Given the description of an element on the screen output the (x, y) to click on. 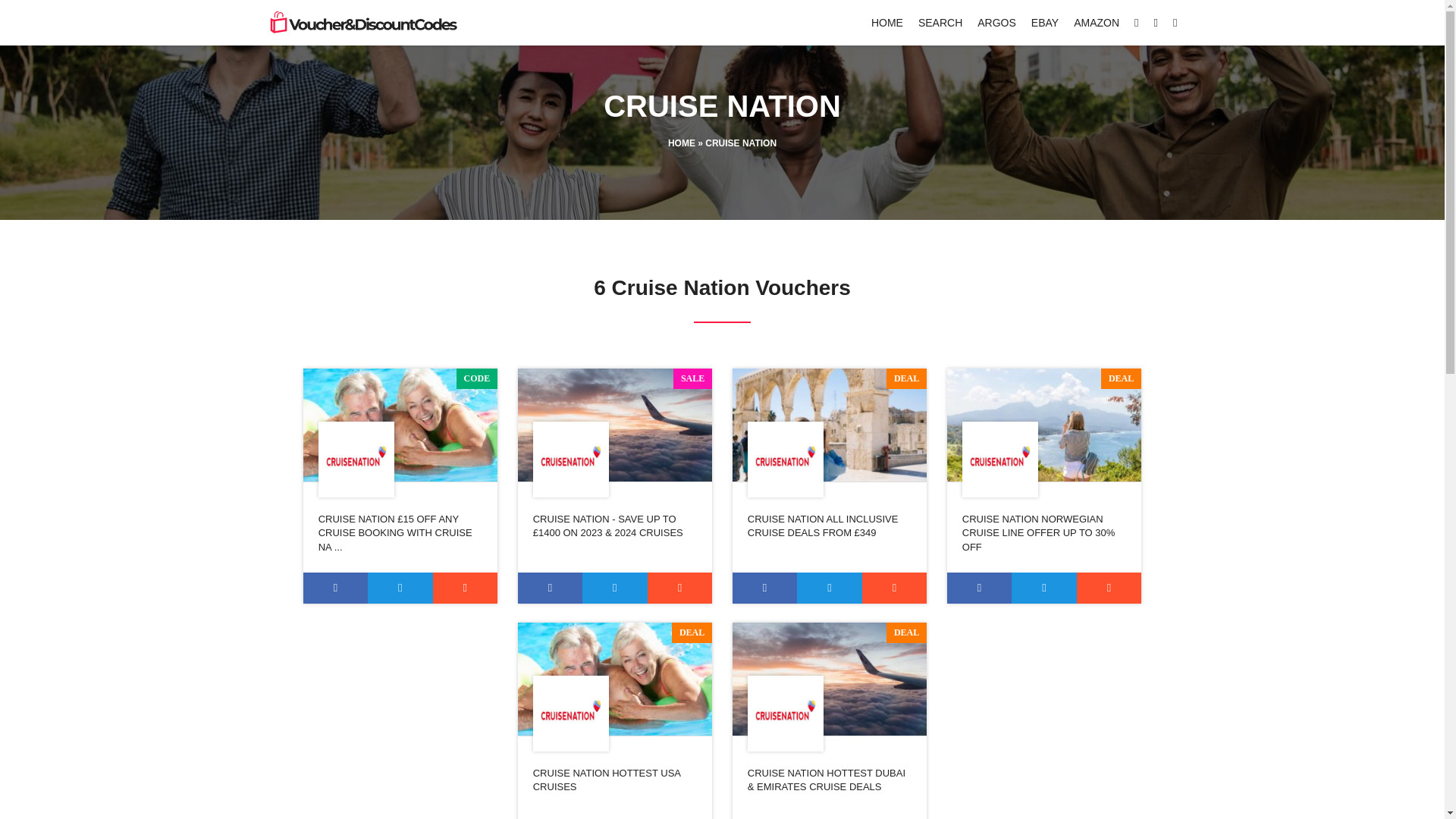
Share on Facebook (335, 587)
HOME (886, 22)
Share on Facebook (979, 587)
HOME (681, 143)
EBAY (1044, 22)
Tweet (1043, 587)
Share on Facebook (764, 587)
Share by Email (894, 587)
Share by Email (464, 587)
Voucher and Discount Codes (361, 22)
Share by Email (680, 587)
Tweet (400, 587)
Share on Facebook (550, 587)
Tweet (828, 587)
Share by Email (1109, 587)
